Given the description of an element on the screen output the (x, y) to click on. 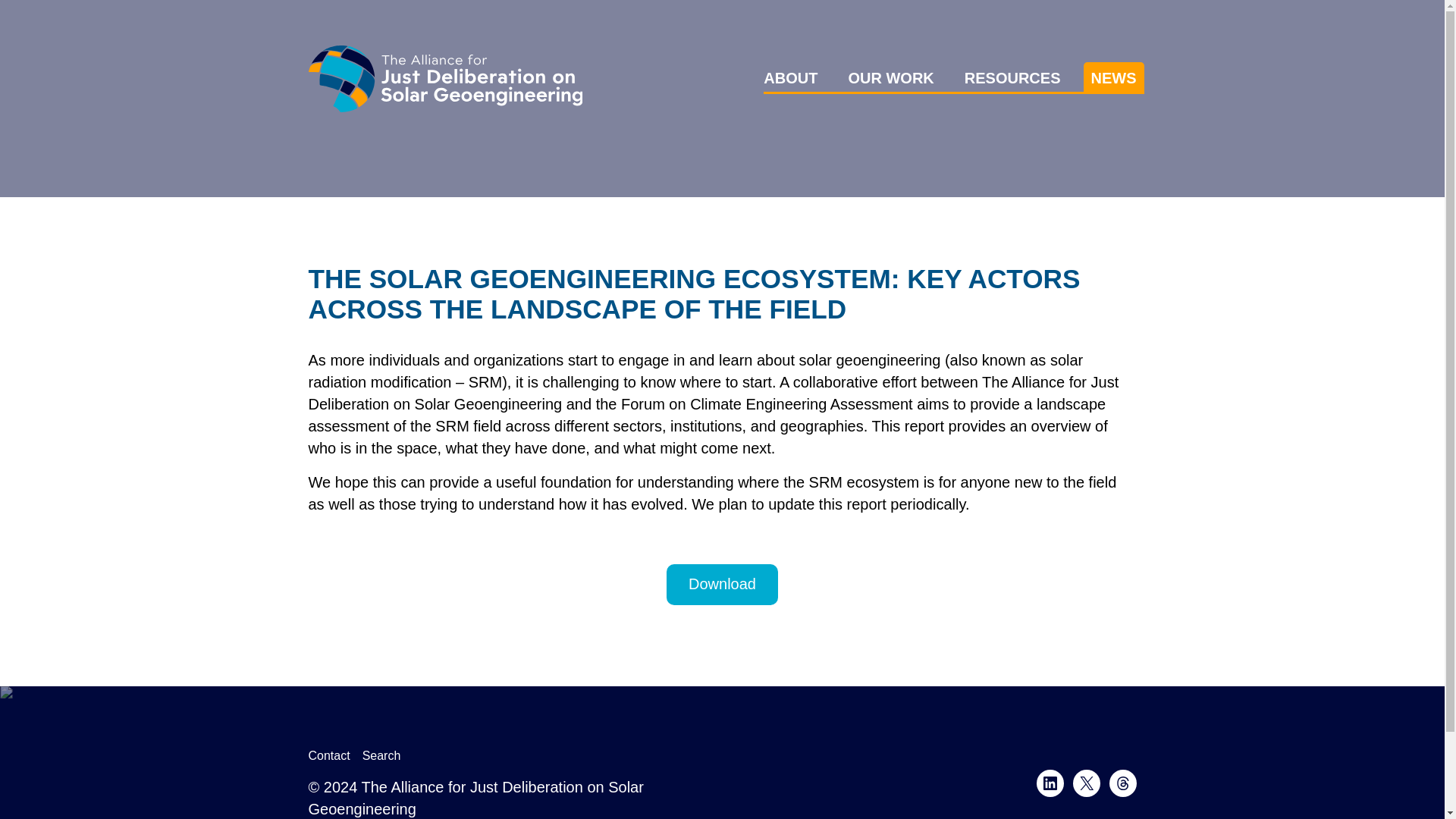
Contact (328, 755)
OUR WORK (890, 76)
X (1085, 782)
LinkedIn (1048, 782)
NEWS (1112, 76)
Download (721, 584)
RESOURCES (1012, 76)
Search (381, 755)
ABOUT (789, 76)
Threads (1121, 782)
